Given the description of an element on the screen output the (x, y) to click on. 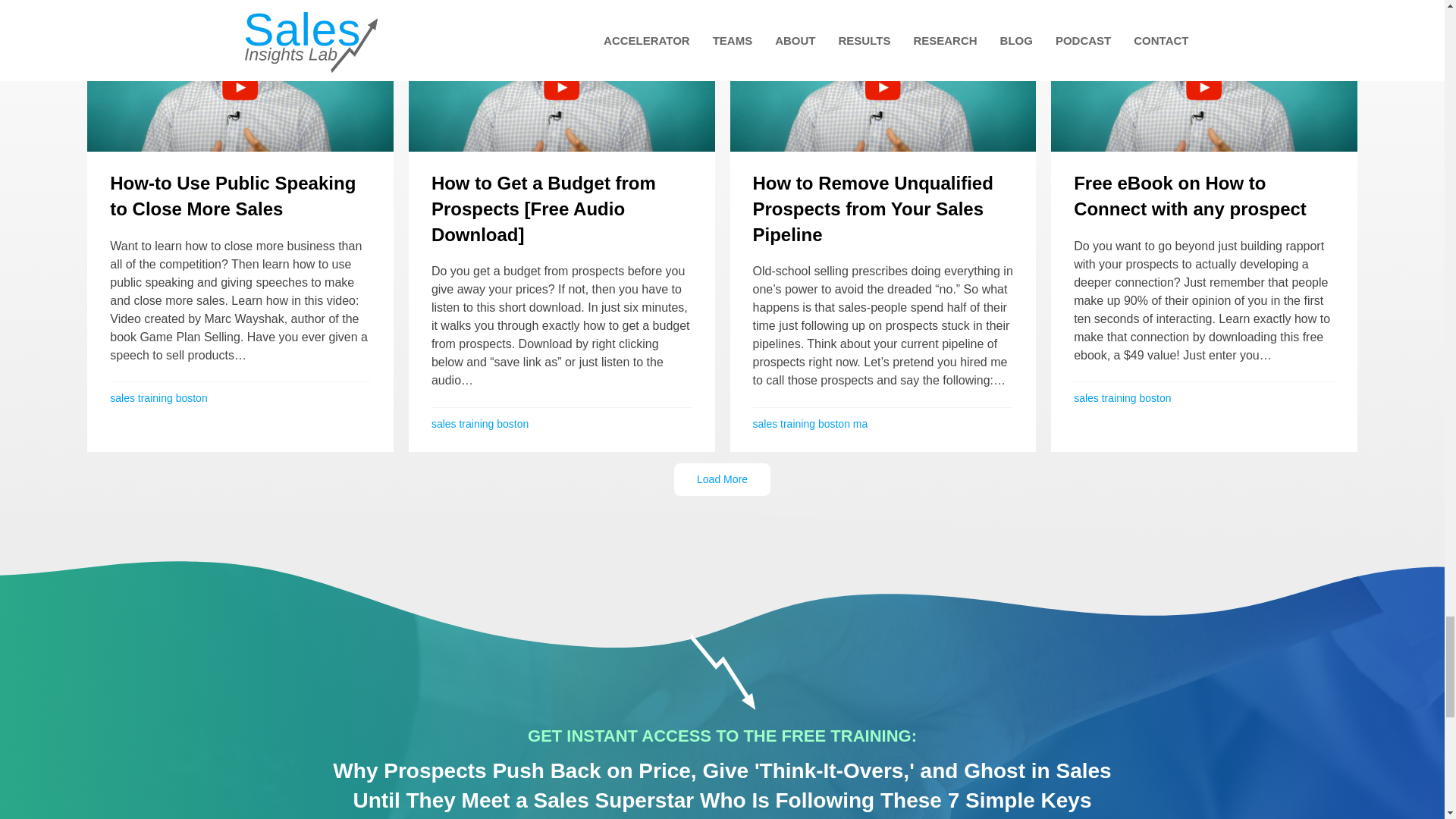
sales training boston (158, 398)
sales training boston ma (809, 423)
sales training boston (479, 423)
